Given the description of an element on the screen output the (x, y) to click on. 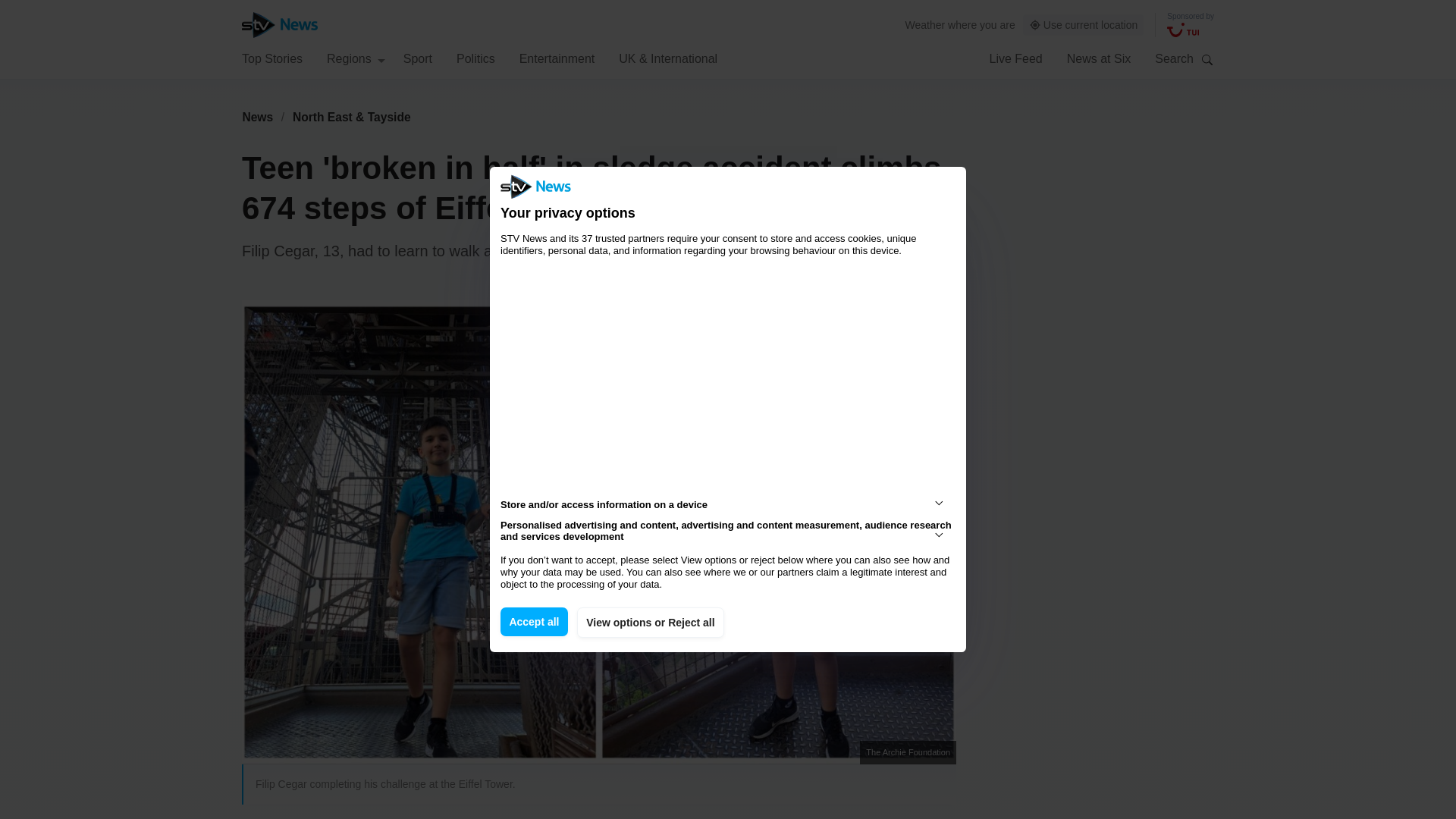
Live Feed (1015, 57)
Search (1206, 59)
Use current location (1083, 25)
Entertainment (557, 57)
Politics (476, 57)
News at Six (1099, 57)
Weather (924, 24)
Regions (355, 57)
Top Stories (271, 57)
